Given the description of an element on the screen output the (x, y) to click on. 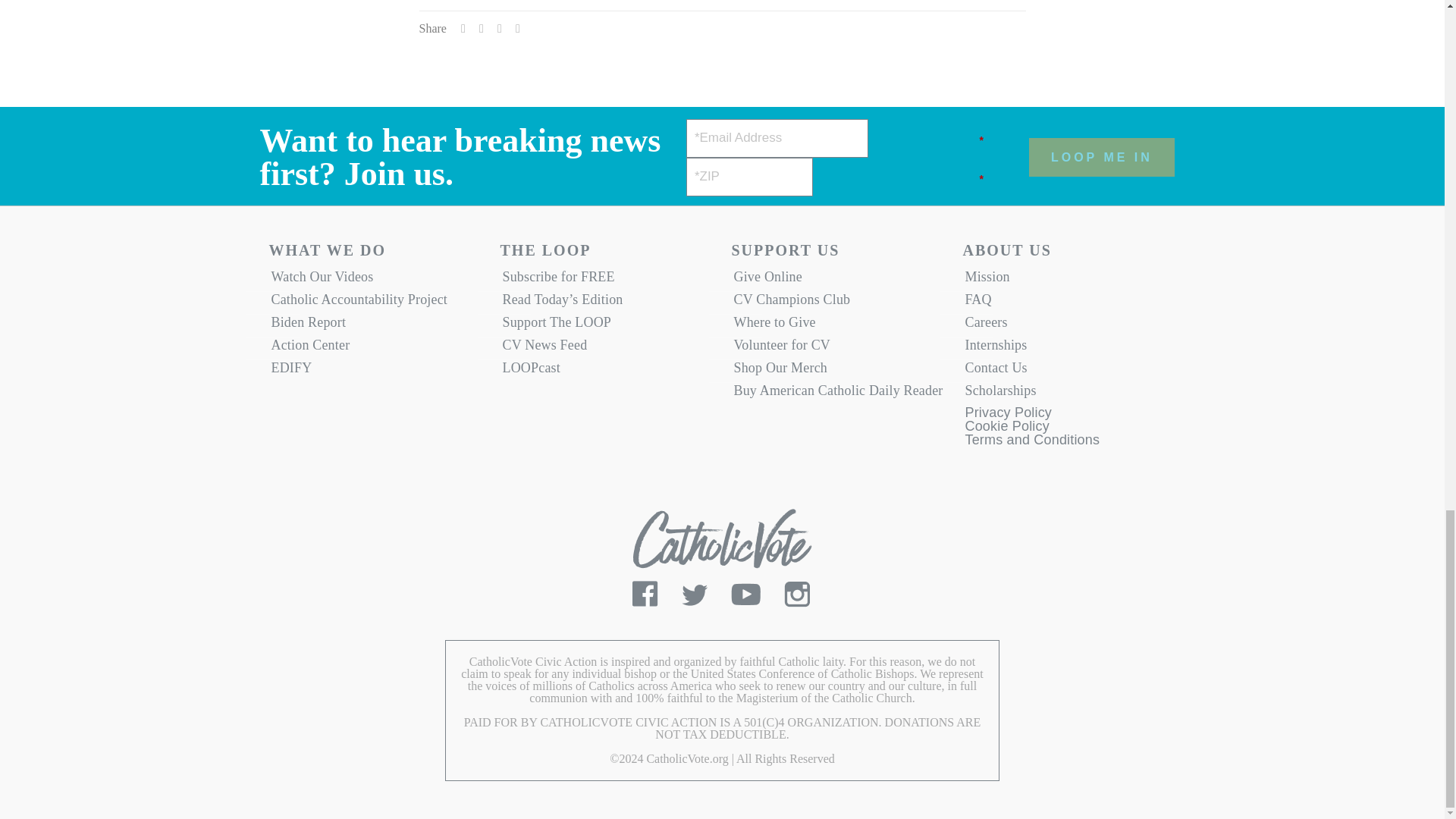
Watch Our Videos (374, 280)
Biden Report (374, 325)
Instagram (796, 600)
Cookie Policy  (1005, 429)
Buy American Catholic Daily Reader (836, 394)
Shop Our Merch (836, 371)
Subscribe for FREE (606, 280)
Twitter (694, 600)
Privacy Policy  (1007, 416)
Terms and Conditions  (1031, 443)
Catholic Accountability Project (374, 302)
Action Center (374, 348)
EDIFY (374, 371)
LOOPcast (606, 371)
LOOP ME IN (1101, 157)
